Given the description of an element on the screen output the (x, y) to click on. 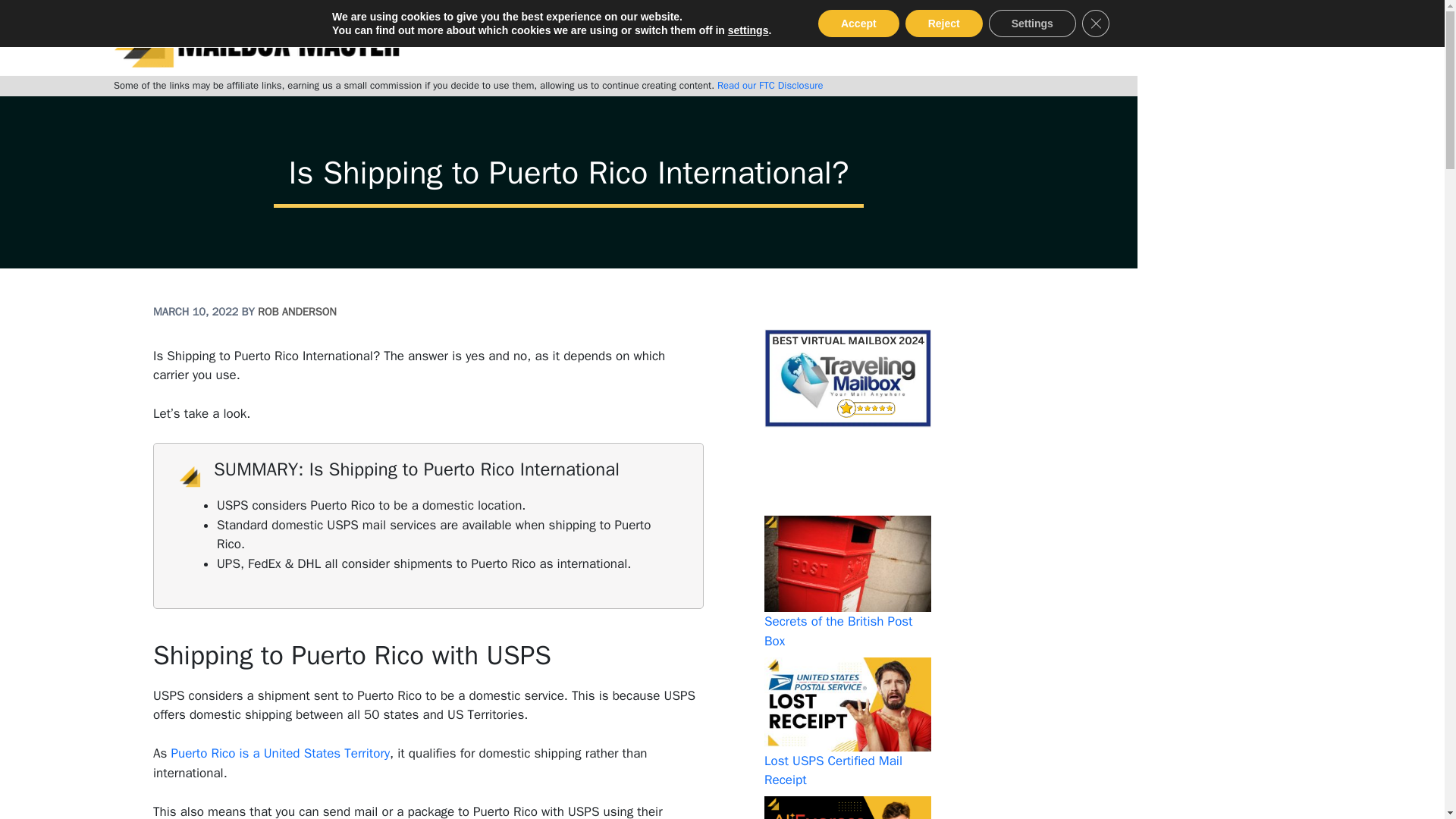
Track Package (679, 37)
Home (533, 37)
Secrets of the British Post Box (838, 631)
MAILBOX MASTER (256, 38)
Contact (946, 37)
Our Services (787, 37)
Lost USPS Certified Mail Receipt 6 (847, 704)
Secrets of the British Post Box 5 (847, 563)
Puerto Rico is a United States Territory (280, 753)
Guides (878, 37)
